Given the description of an element on the screen output the (x, y) to click on. 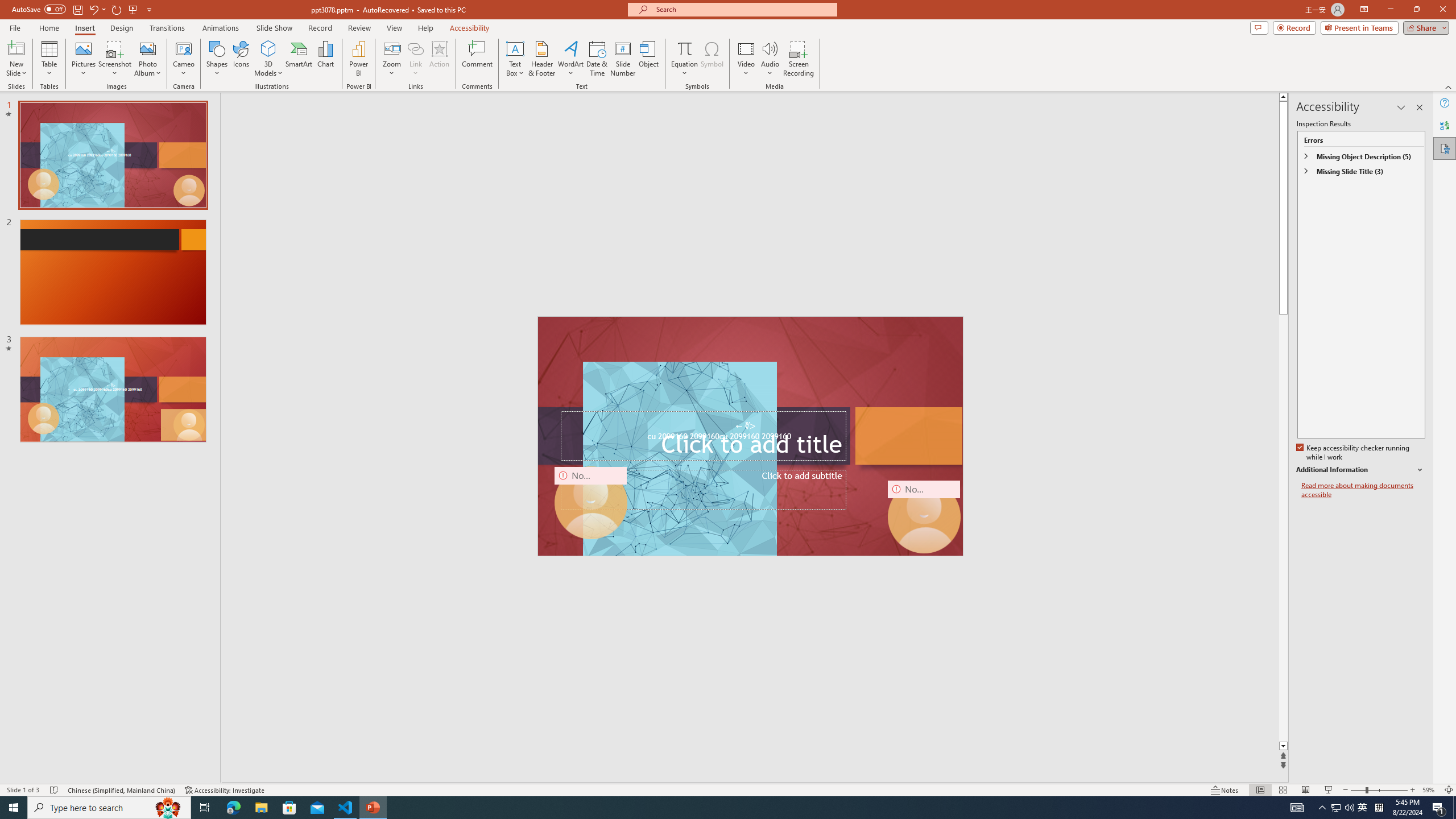
New Photo Album... (147, 48)
WordArt (570, 58)
Comment (476, 58)
Camera 9, No camera detected. (590, 503)
